Given the description of an element on the screen output the (x, y) to click on. 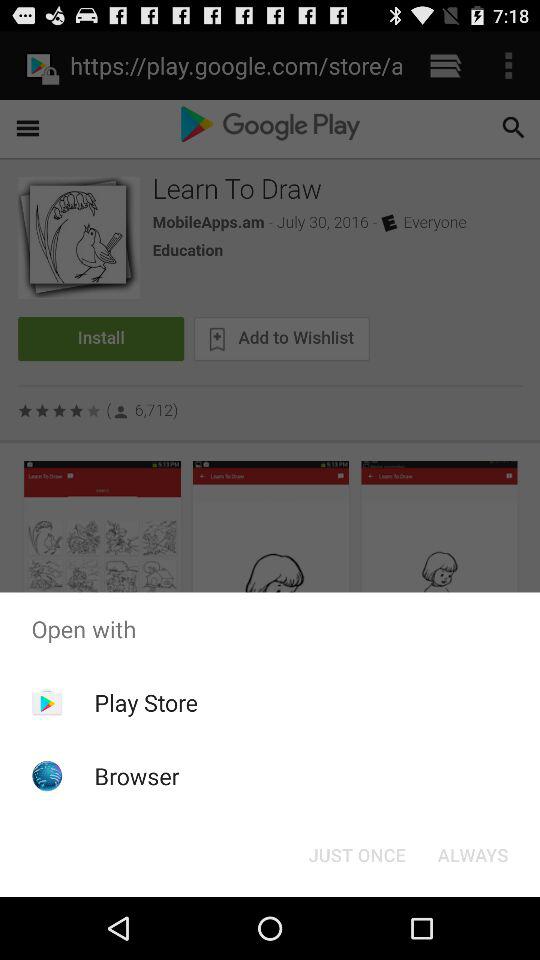
launch the icon below open with app (356, 854)
